Given the description of an element on the screen output the (x, y) to click on. 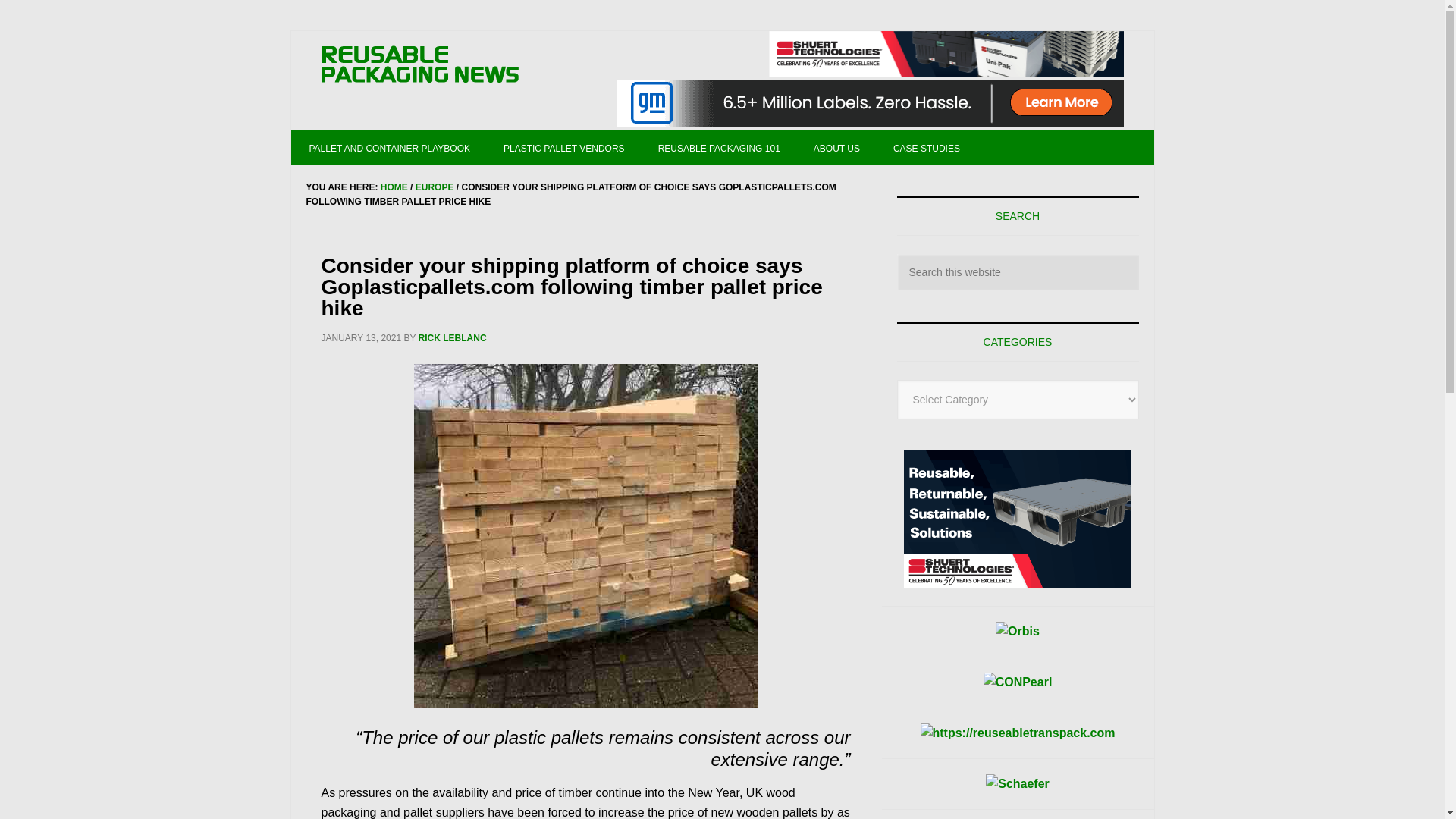
REUSABLE PACKAGING NEWS (419, 65)
CONPearl (1018, 682)
Schaefer (1017, 783)
REUSABLE PACKAGING 101 (718, 147)
RICK LEBLANC (452, 337)
EUROPE (434, 186)
PALLET AND CONTAINER PLAYBOOK (390, 147)
HOME (393, 186)
Shuert (1017, 519)
PLASTIC PALLET VENDORS (563, 147)
Orbis (1017, 631)
Shuert Industries (946, 53)
ABOUT US (835, 147)
